Given the description of an element on the screen output the (x, y) to click on. 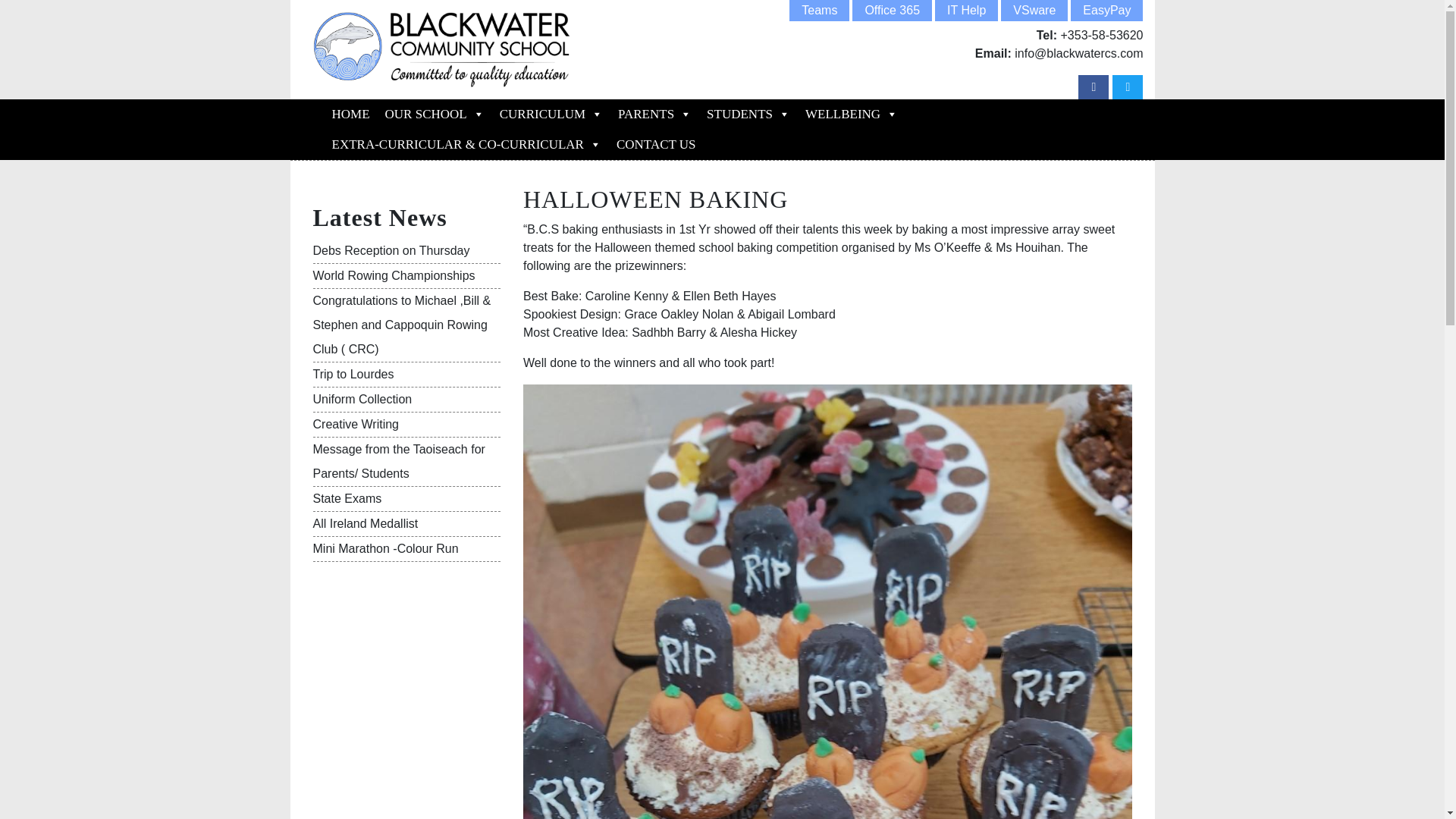
HOME (350, 114)
Office 365 (891, 10)
PARENTS (654, 114)
CURRICULUM (551, 114)
IT Help (965, 10)
OUR SCHOOL (434, 114)
EasyPay (1106, 10)
VSware (1034, 10)
STUDENTS (747, 114)
Teams (818, 10)
